Given the description of an element on the screen output the (x, y) to click on. 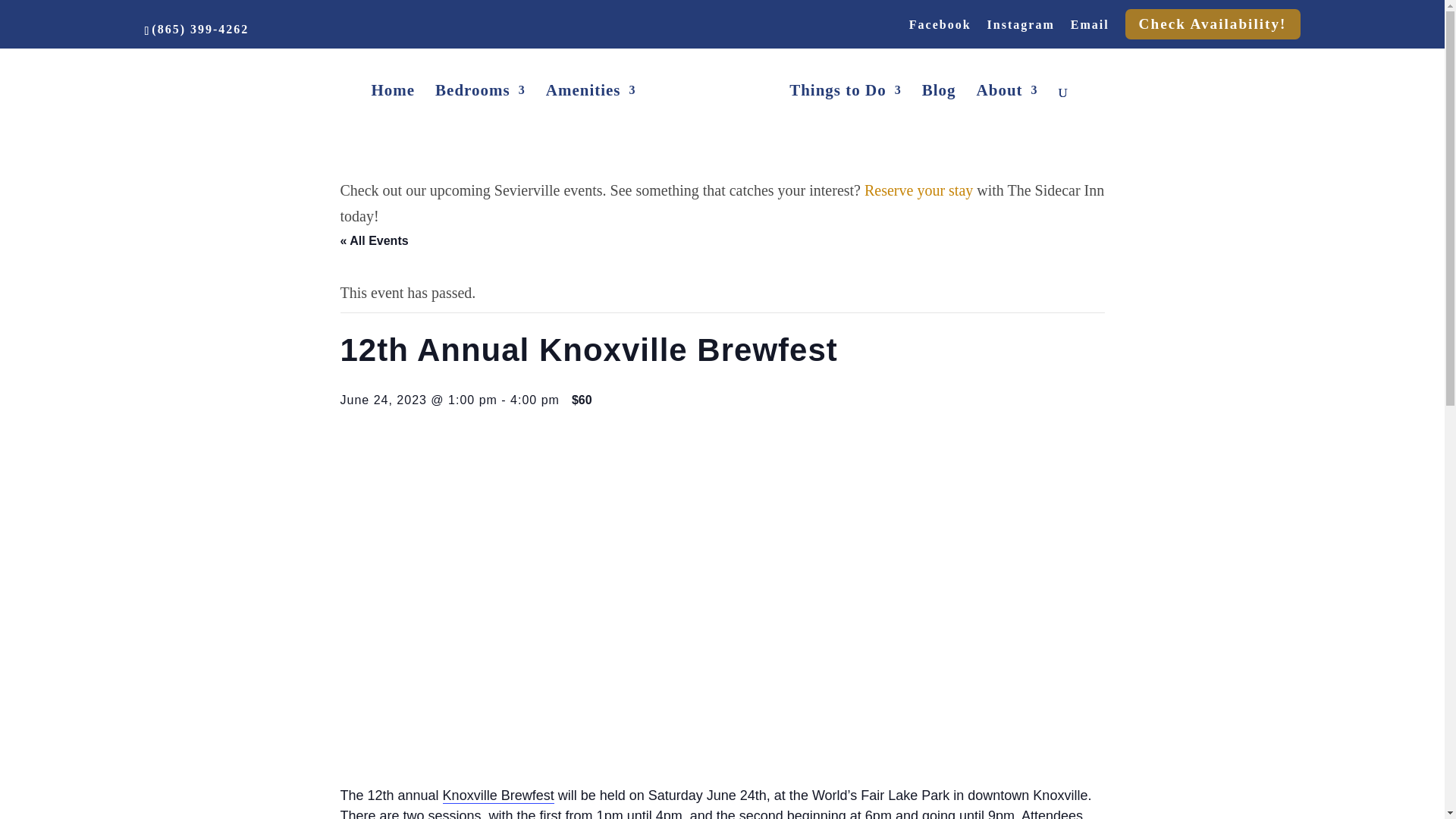
Things to Do (845, 118)
Check Availability! (1212, 24)
Instagram (1020, 29)
Amenities (591, 118)
Bedrooms (480, 118)
Activities (845, 118)
Email (1089, 29)
About (1007, 118)
Facebook (939, 29)
